Given the description of an element on the screen output the (x, y) to click on. 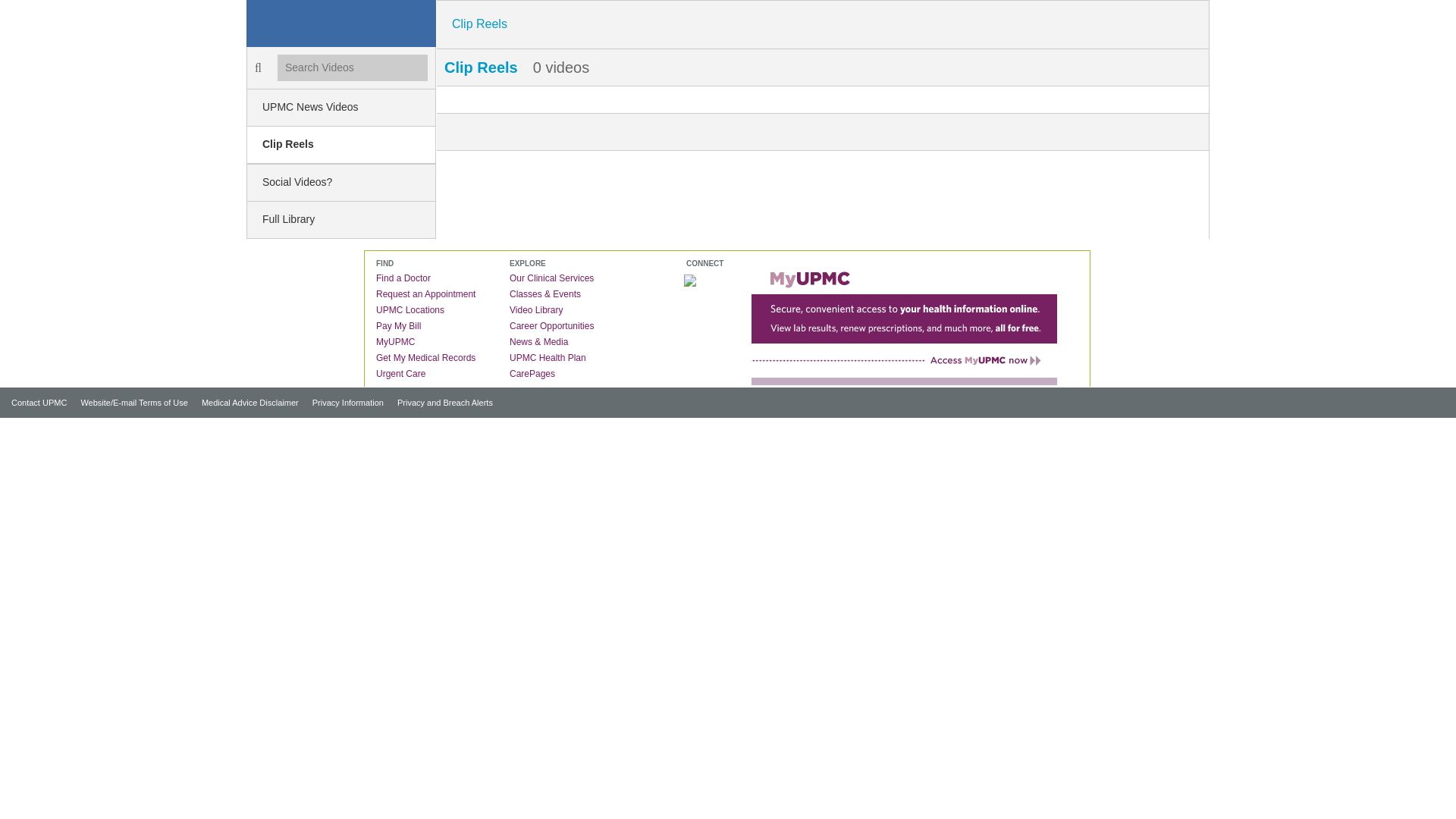
UPMC News Videos (341, 107)
Full Library (341, 219)
Social Videos? (341, 182)
Pay My Bill (401, 326)
Urgent Care (403, 373)
CarePages (535, 373)
Find a Doctor (406, 277)
UPMC Health Plan (551, 357)
Social Videos? (341, 182)
UPMC News Videos (341, 107)
Privacy Information (342, 402)
Privacy and Breach Alerts (439, 402)
MyUPMC (398, 341)
Clip Reels (341, 144)
Medical Advice Disclaimer (244, 402)
